Given the description of an element on the screen output the (x, y) to click on. 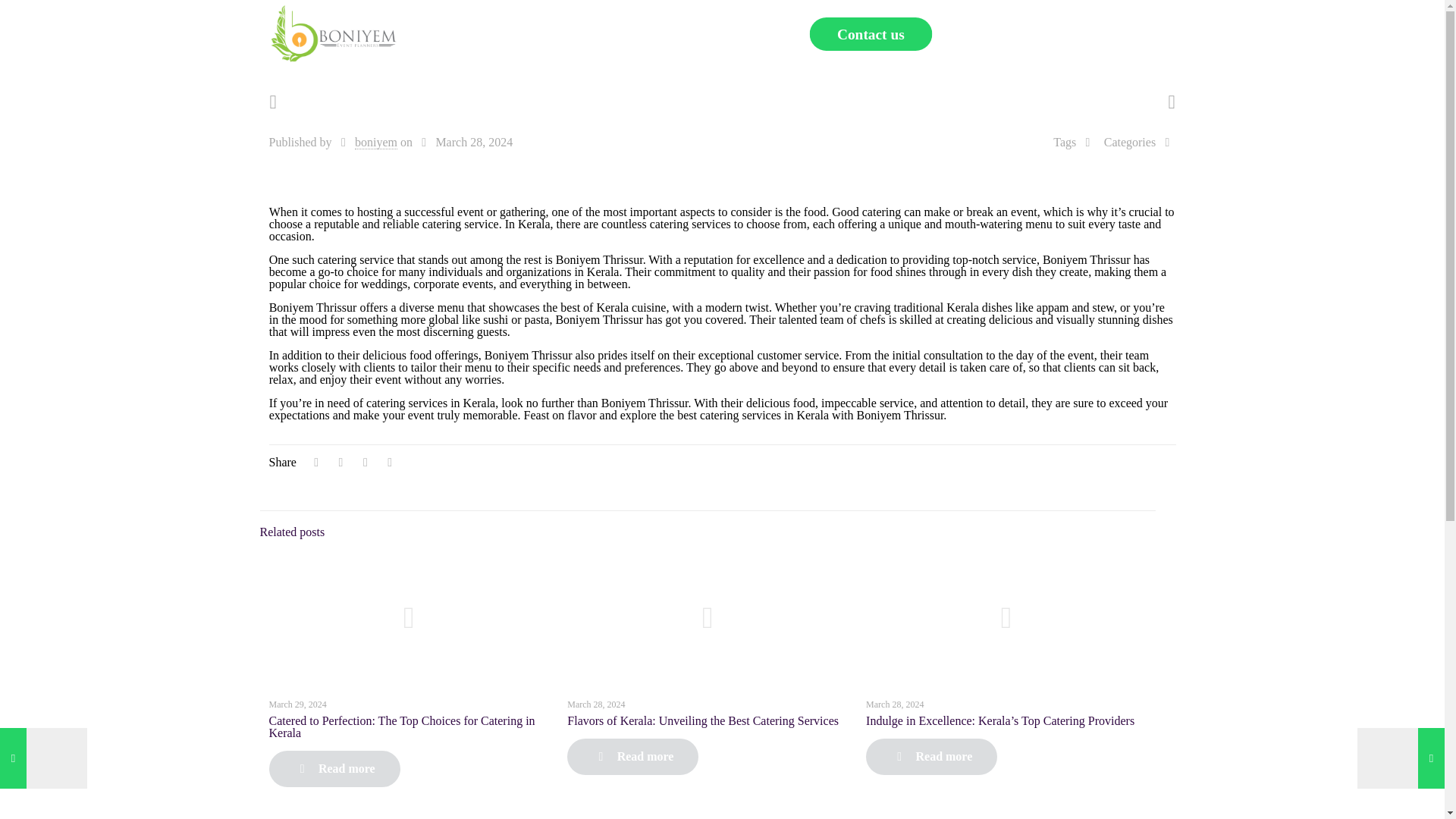
Read more (931, 756)
Flavors of Kerala: Unveiling the Best Catering Services (702, 720)
Read more (332, 769)
boniyem (376, 142)
Read more (632, 756)
Contact us (864, 32)
